Given the description of an element on the screen output the (x, y) to click on. 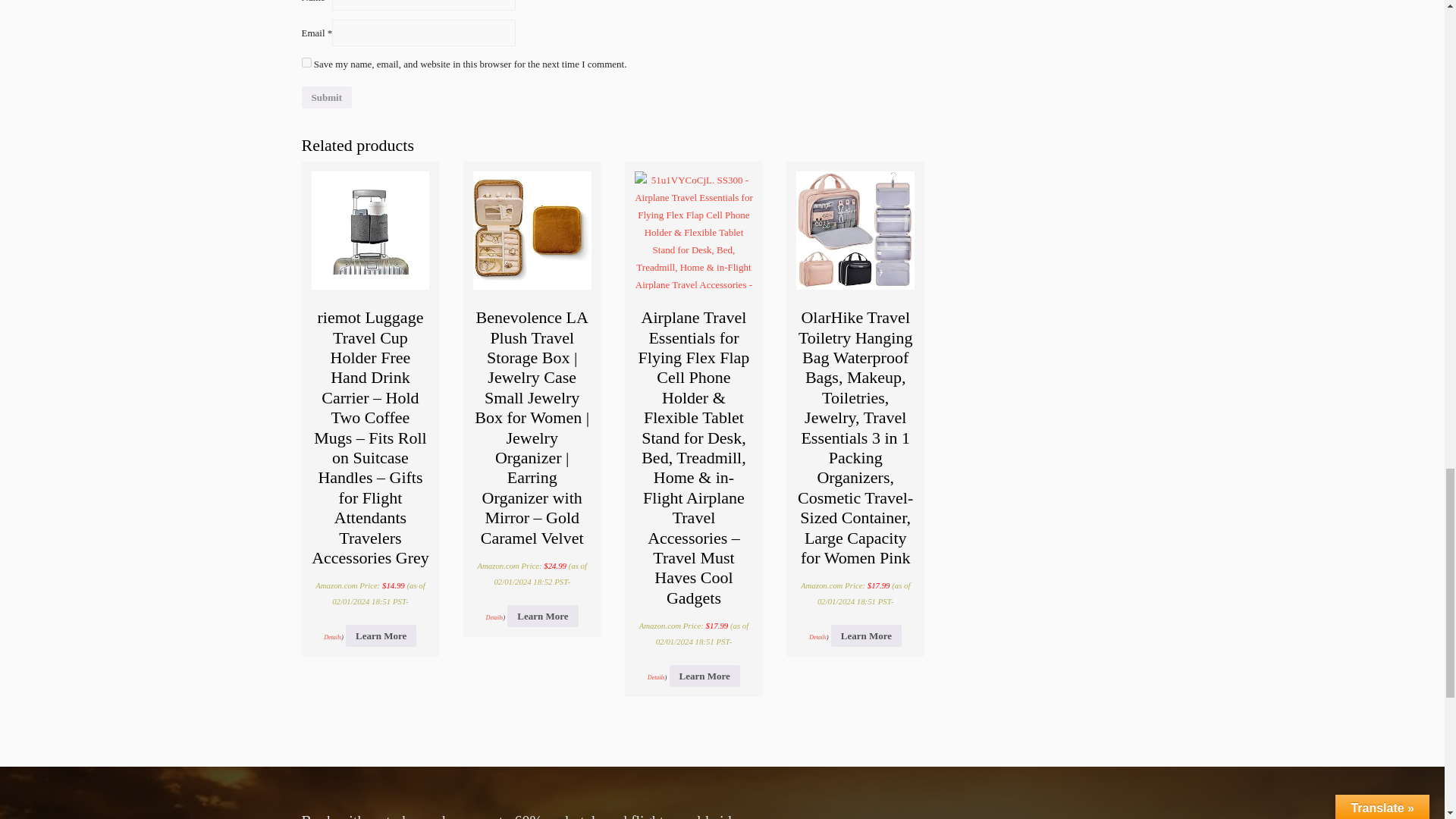
Learn More (381, 635)
Details (494, 617)
Submit (326, 97)
Submit (326, 97)
yes (306, 62)
Details (333, 636)
